Given the description of an element on the screen output the (x, y) to click on. 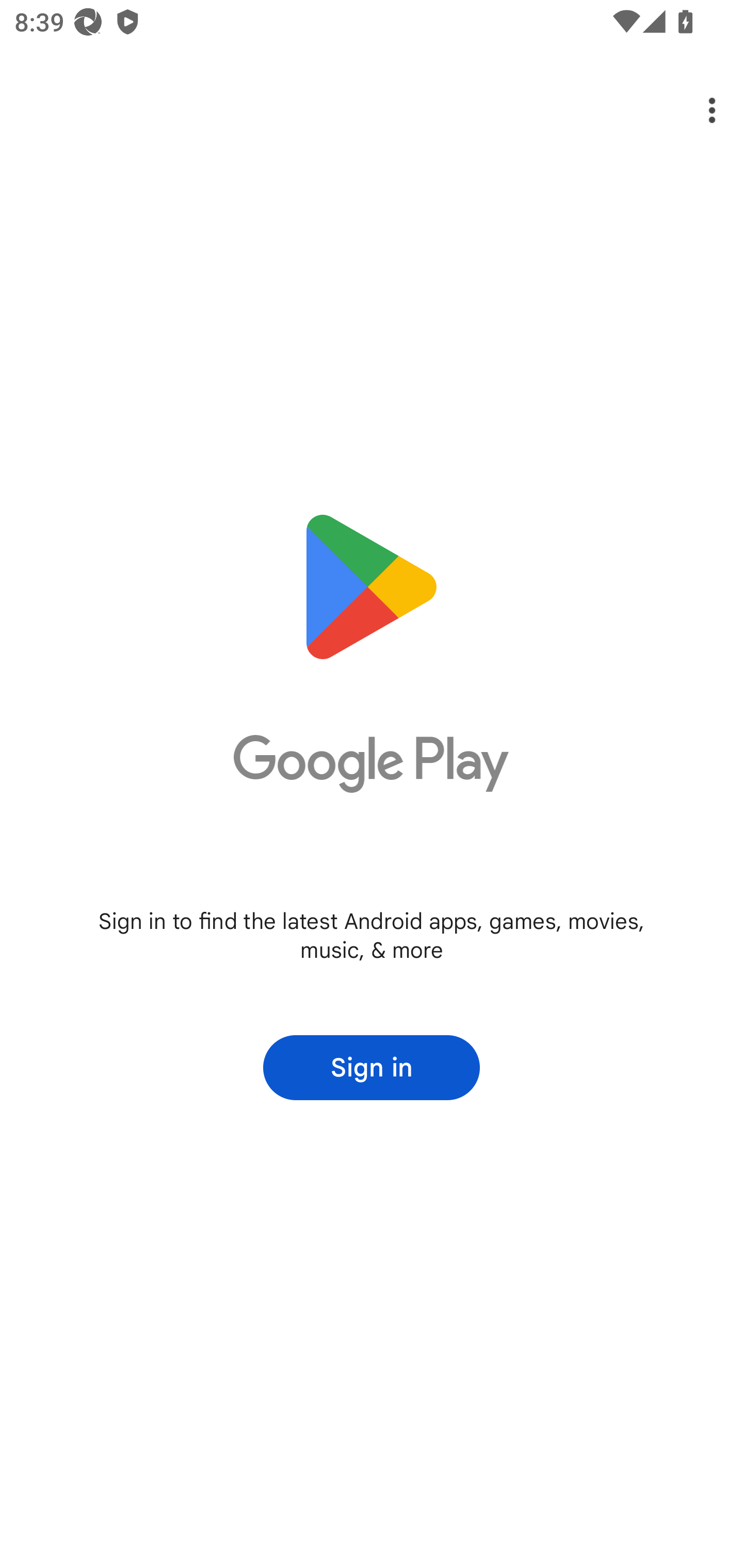
Options (697, 110)
Sign in (371, 1067)
